Given the description of an element on the screen output the (x, y) to click on. 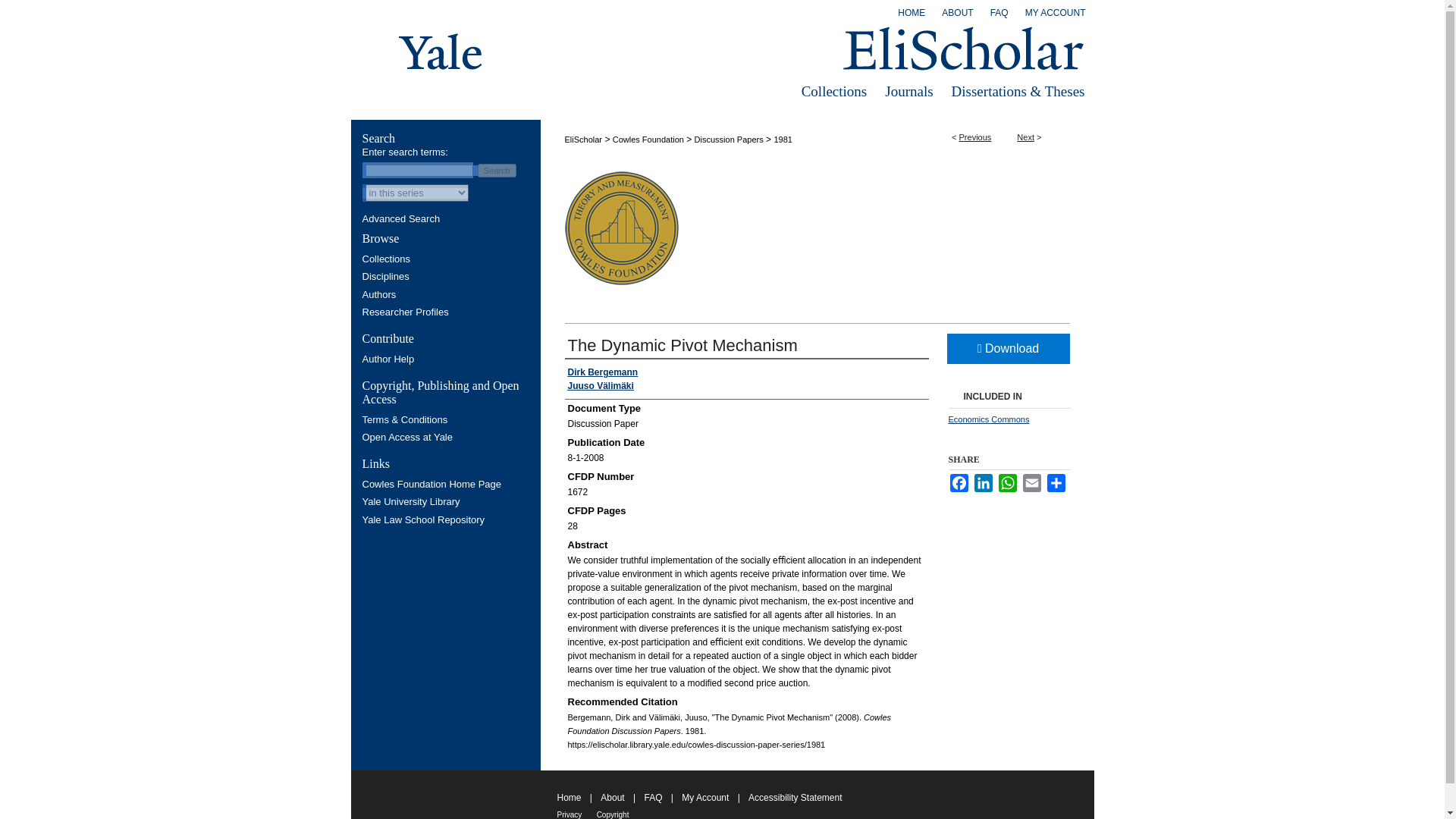
1981 (782, 139)
FAQ (998, 15)
Home (911, 15)
Previous (975, 136)
Search (496, 170)
Browse by Disciplines (447, 276)
Search (496, 170)
Economics Commons (988, 419)
ABOUT (957, 15)
Yale (441, 51)
